Given the description of an element on the screen output the (x, y) to click on. 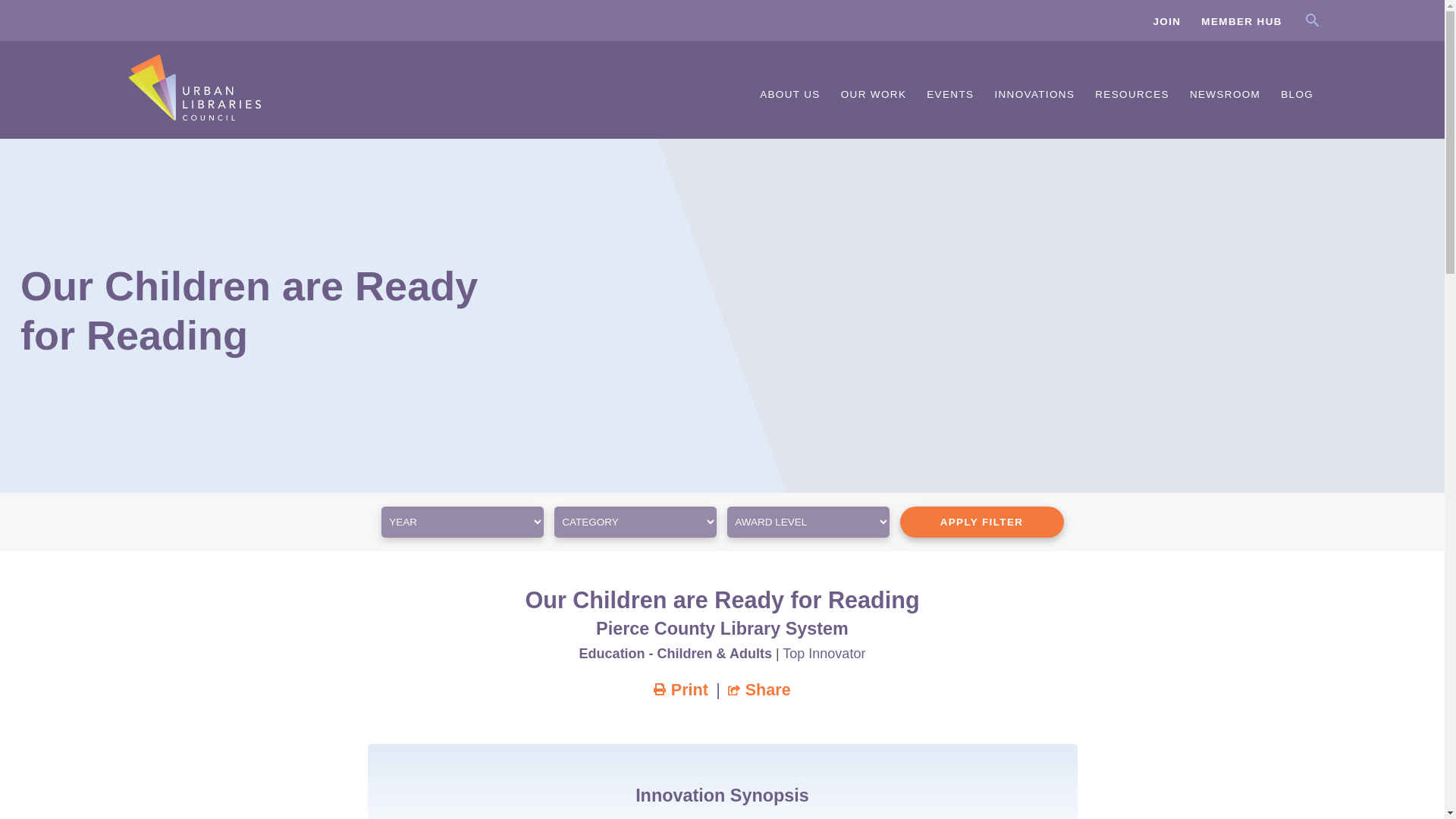
INNOVATIONS (1034, 95)
EVENTS (950, 95)
BLOG (1297, 95)
MEMBER HUB (1241, 20)
OUR WORK (873, 95)
Urban Libraries Council (194, 114)
Search (1321, 20)
Apply Filter (980, 521)
NEWSROOM (1225, 95)
ABOUT US (789, 95)
